Given the description of an element on the screen output the (x, y) to click on. 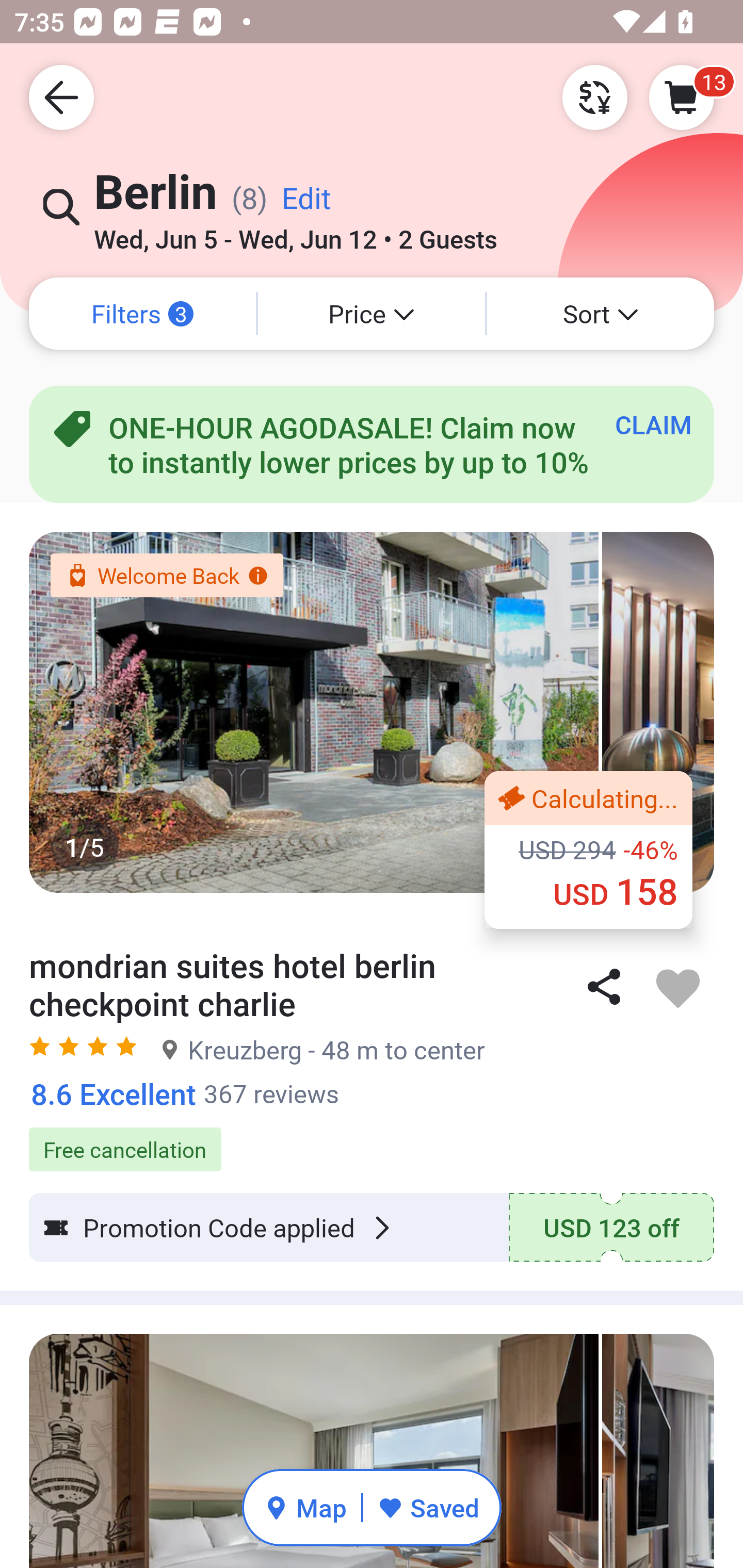
Filters 3 (141, 313)
Price (371, 313)
Sort (600, 313)
CLAIM (653, 424)
1/5 (371, 711)
Welcome Back (166, 575)
Calculating... ‪USD 294 -46% ‪USD 158 (588, 849)
Free cancellation (371, 1139)
Promotion Code applied USD 123 off (371, 1227)
Map (305, 1507)
Saved (428, 1507)
